Given the description of an element on the screen output the (x, y) to click on. 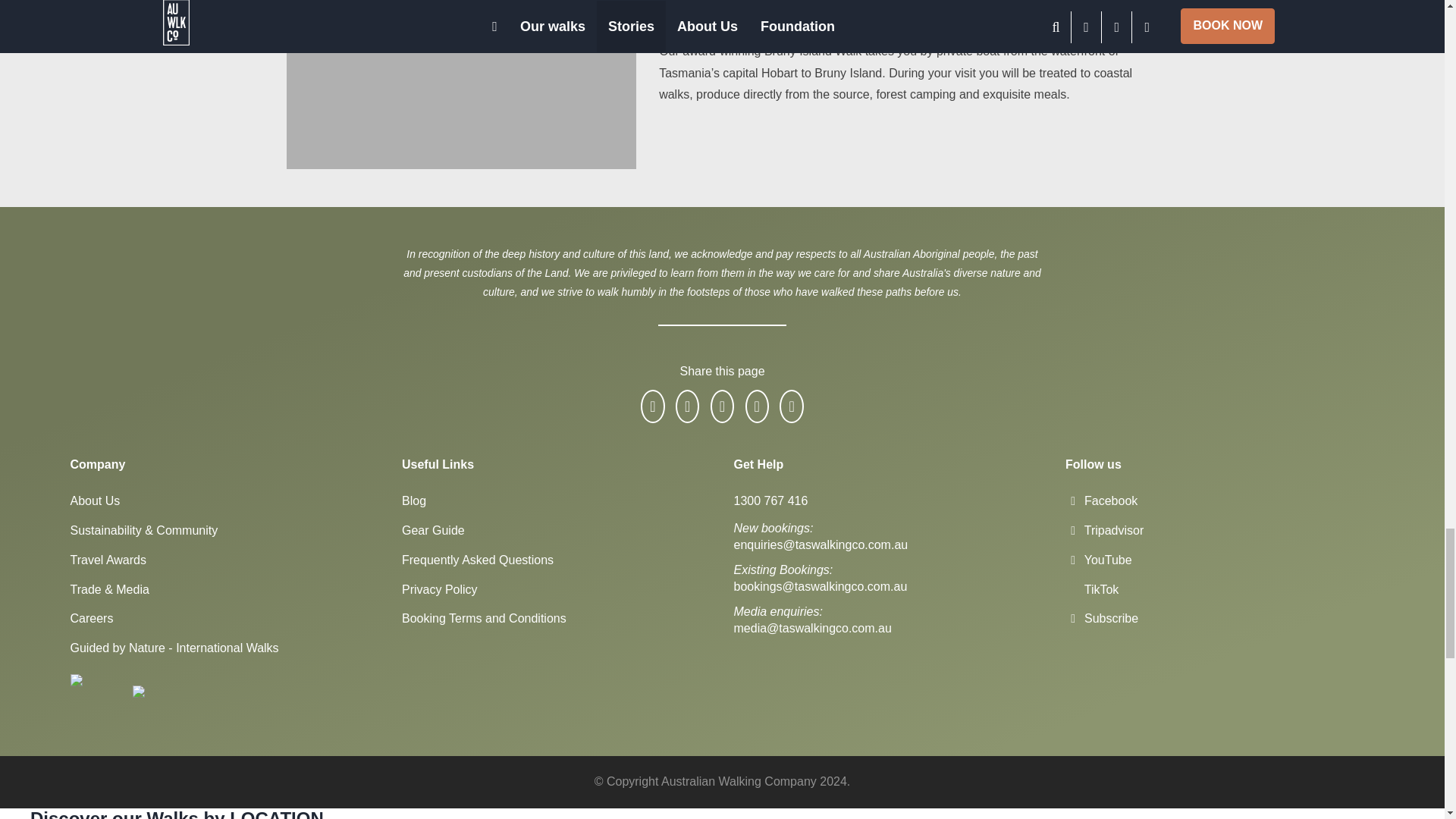
Privacy Policy (439, 589)
About Us (94, 500)
Frequently Asked Questions (477, 559)
Careers (91, 617)
Booking Terms and Conditions (483, 617)
Gear Guide (432, 530)
